Given the description of an element on the screen output the (x, y) to click on. 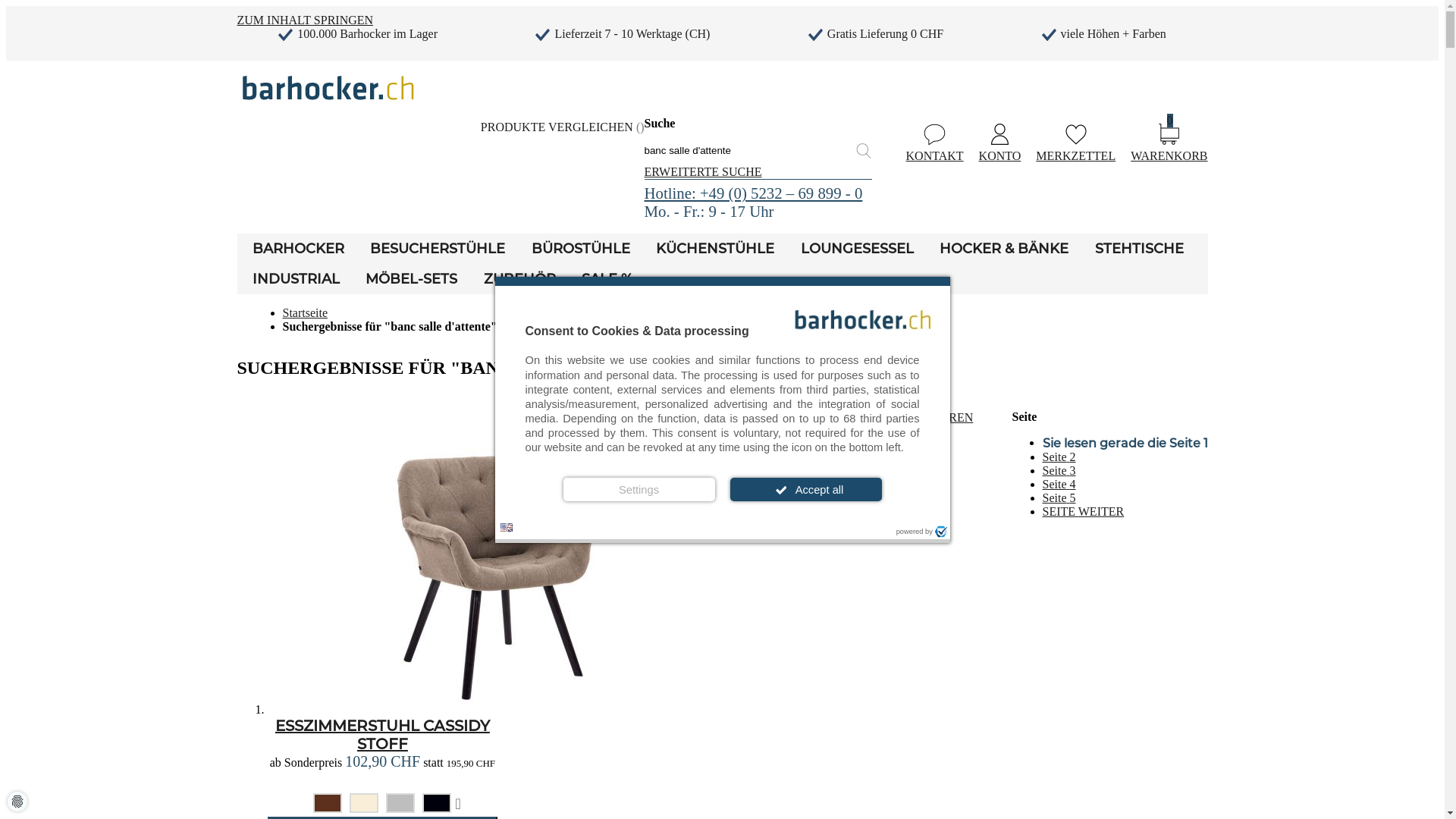
Magento Commerce Element type: hover (327, 88)
STEHTISCHE Element type: text (1138, 248)
Seite 2 Element type: text (1058, 456)
SALE % Element type: text (606, 278)
Next Element type: text (462, 804)
ERWEITERTE SUCHE Element type: text (703, 171)
SEITE WEITER Element type: text (1082, 511)
Seite 3 Element type: text (1058, 470)
BARHOCKER Element type: text (297, 248)
Startseite Element type: text (304, 312)
AUFSTEIGEND SORTIEREN Element type: text (896, 417)
Seite 4 Element type: text (1058, 483)
ZUM INHALT SPRINGEN Element type: text (304, 19)
INDUSTRIAL Element type: text (295, 278)
KONTO Element type: text (1000, 142)
ESSZIMMERSTUHL CASSIDY STOFF Element type: text (382, 734)
LOUNGESESSEL Element type: text (856, 248)
Previous Element type: text (301, 804)
Seite 5 Element type: text (1058, 497)
PRODUKTE VERGLEICHEN Element type: text (562, 126)
KONTAKT Element type: text (934, 142)
WARENKORB
0 Element type: text (1168, 142)
Magento Commerce Element type: hover (327, 107)
MERKZETTEL Element type: text (1075, 142)
